Given the description of an element on the screen output the (x, y) to click on. 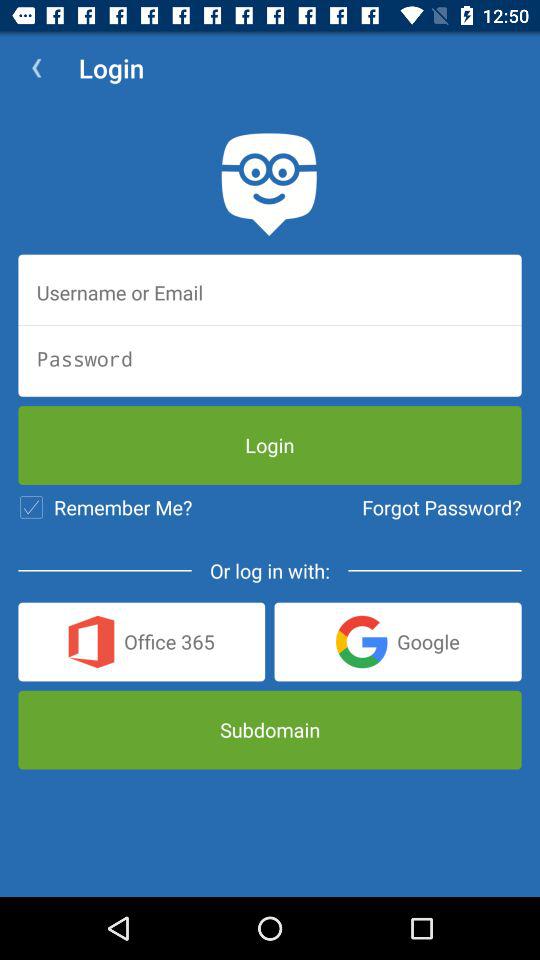
password (269, 358)
